Given the description of an element on the screen output the (x, y) to click on. 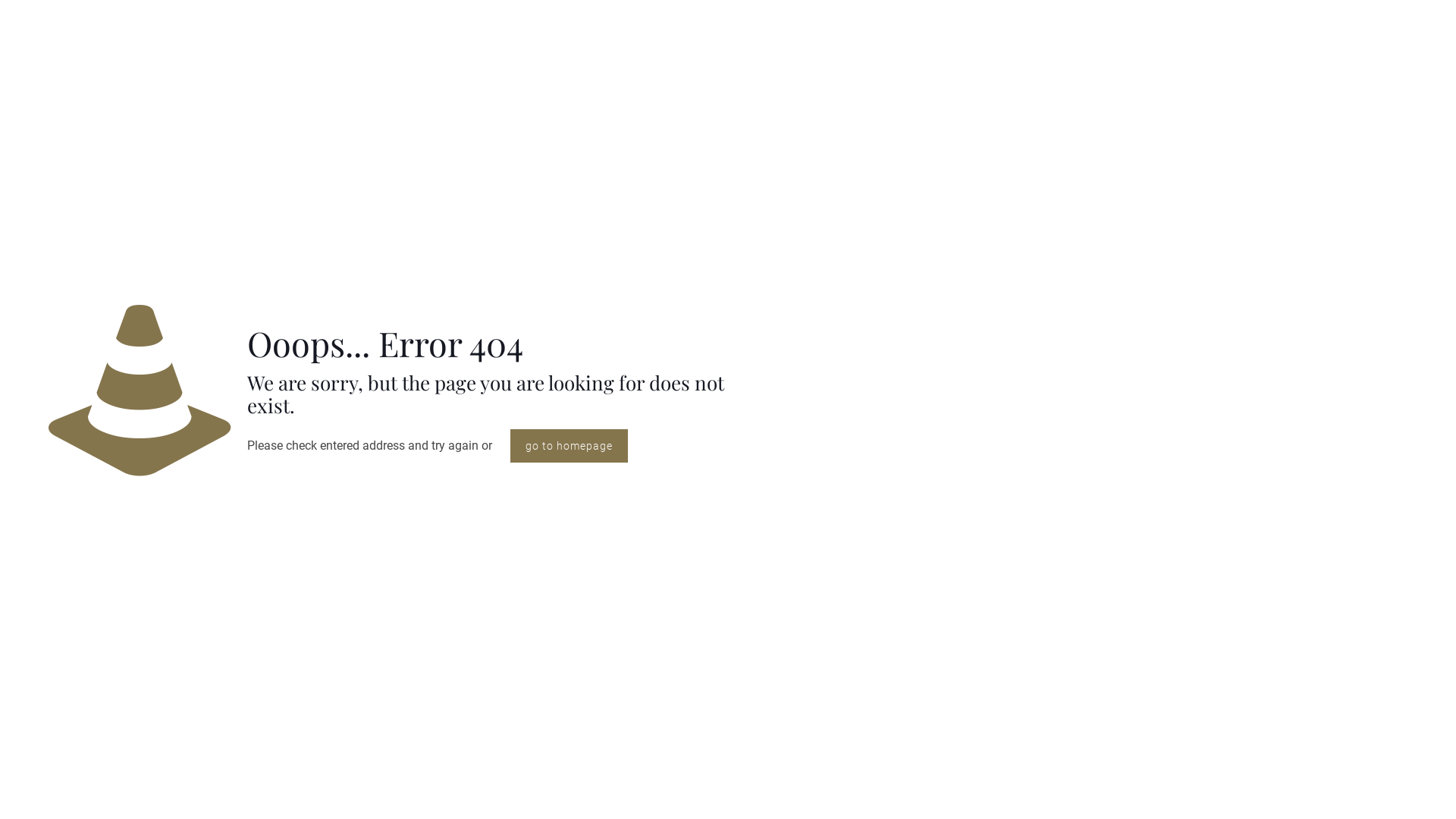
go to homepage Element type: text (568, 445)
